Given the description of an element on the screen output the (x, y) to click on. 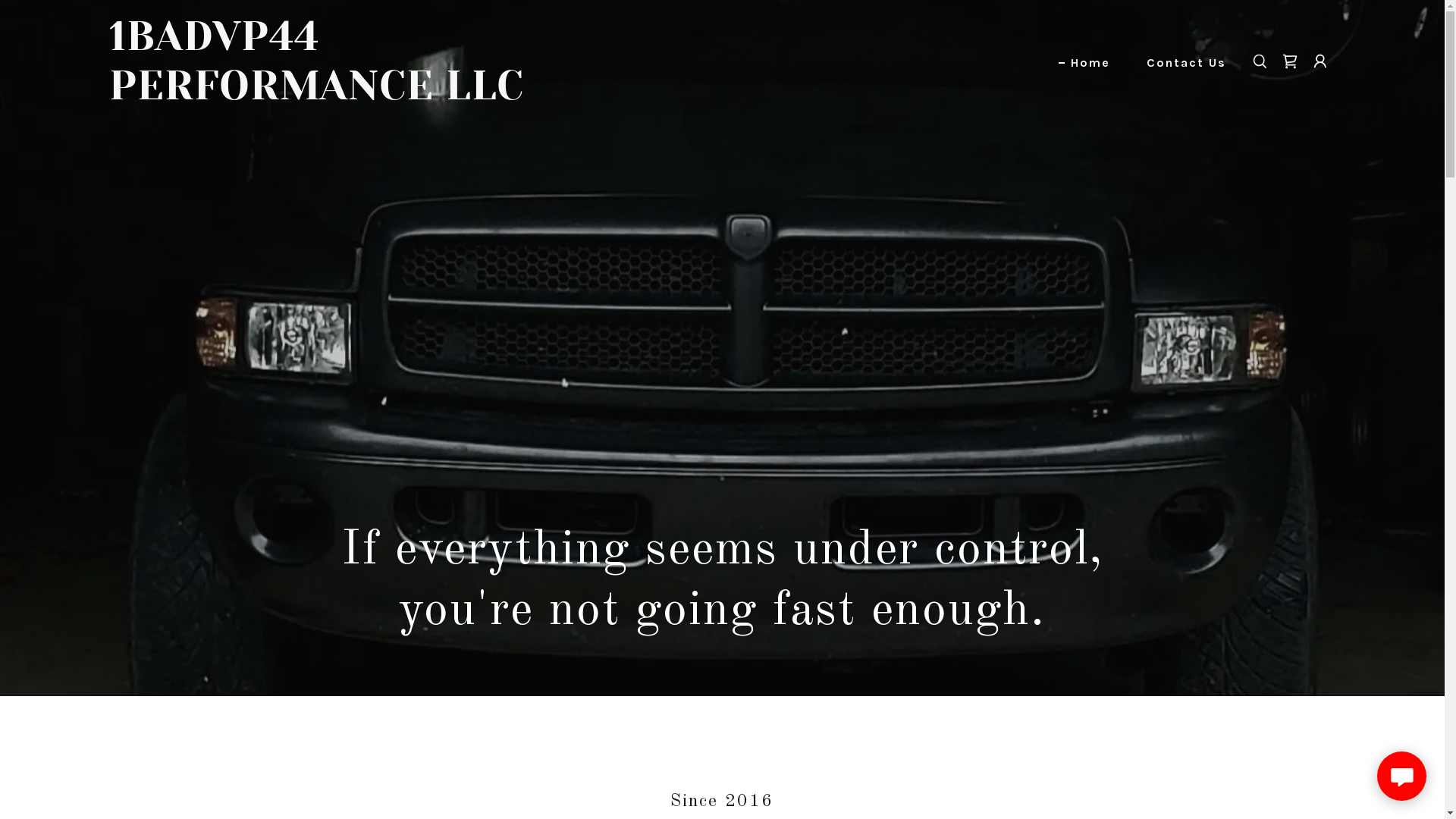
Home Element type: text (1084, 62)
Contact Us Element type: text (1179, 62)
1BADVP44 PERFORMANCE LLC Element type: text (323, 95)
